Given the description of an element on the screen output the (x, y) to click on. 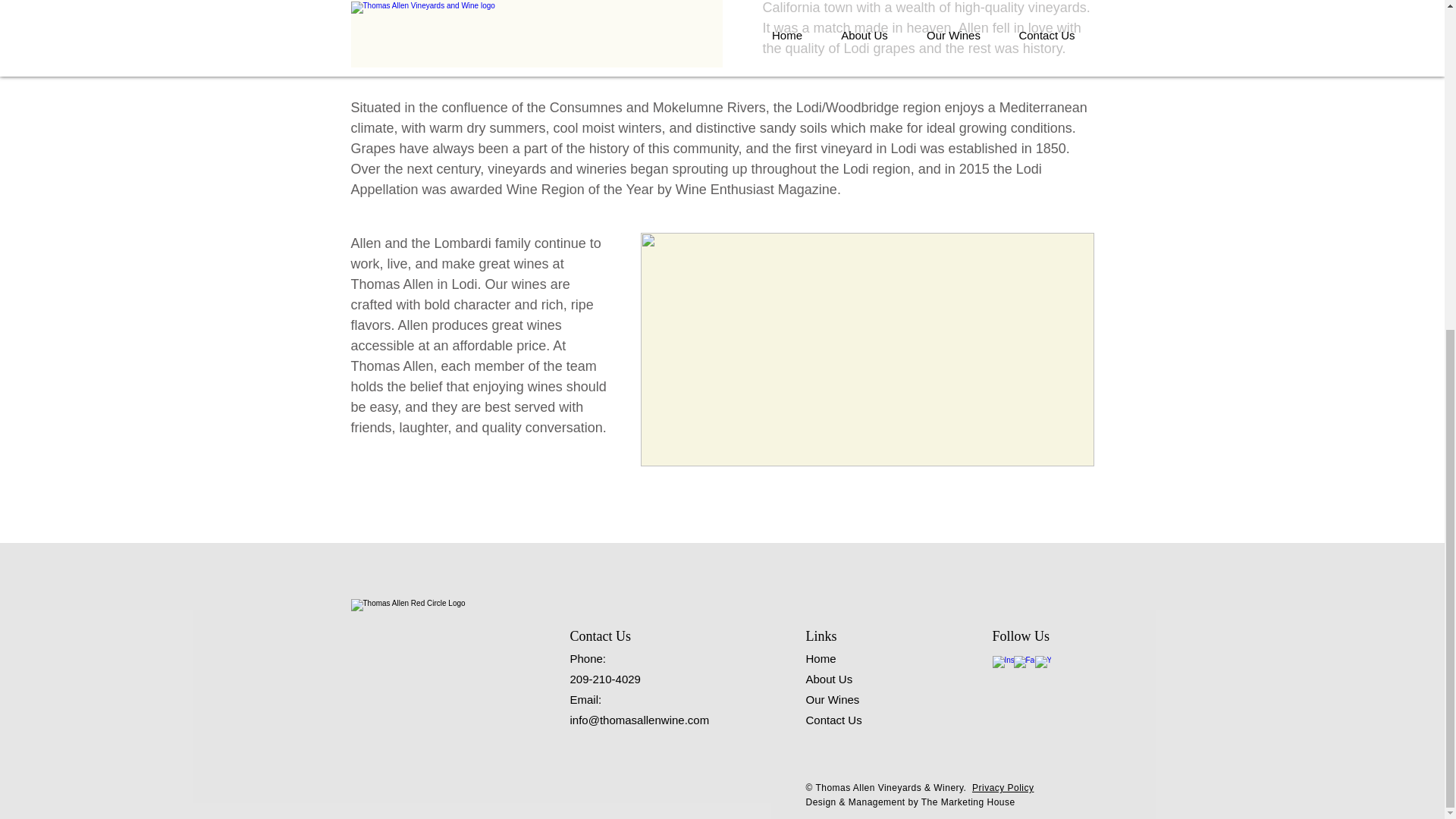
Links (820, 635)
Our Wines (832, 698)
Home (820, 658)
Contact Us (833, 719)
Privacy Policy (1002, 787)
About Us (828, 678)
Follow Us (1020, 635)
